Given the description of an element on the screen output the (x, y) to click on. 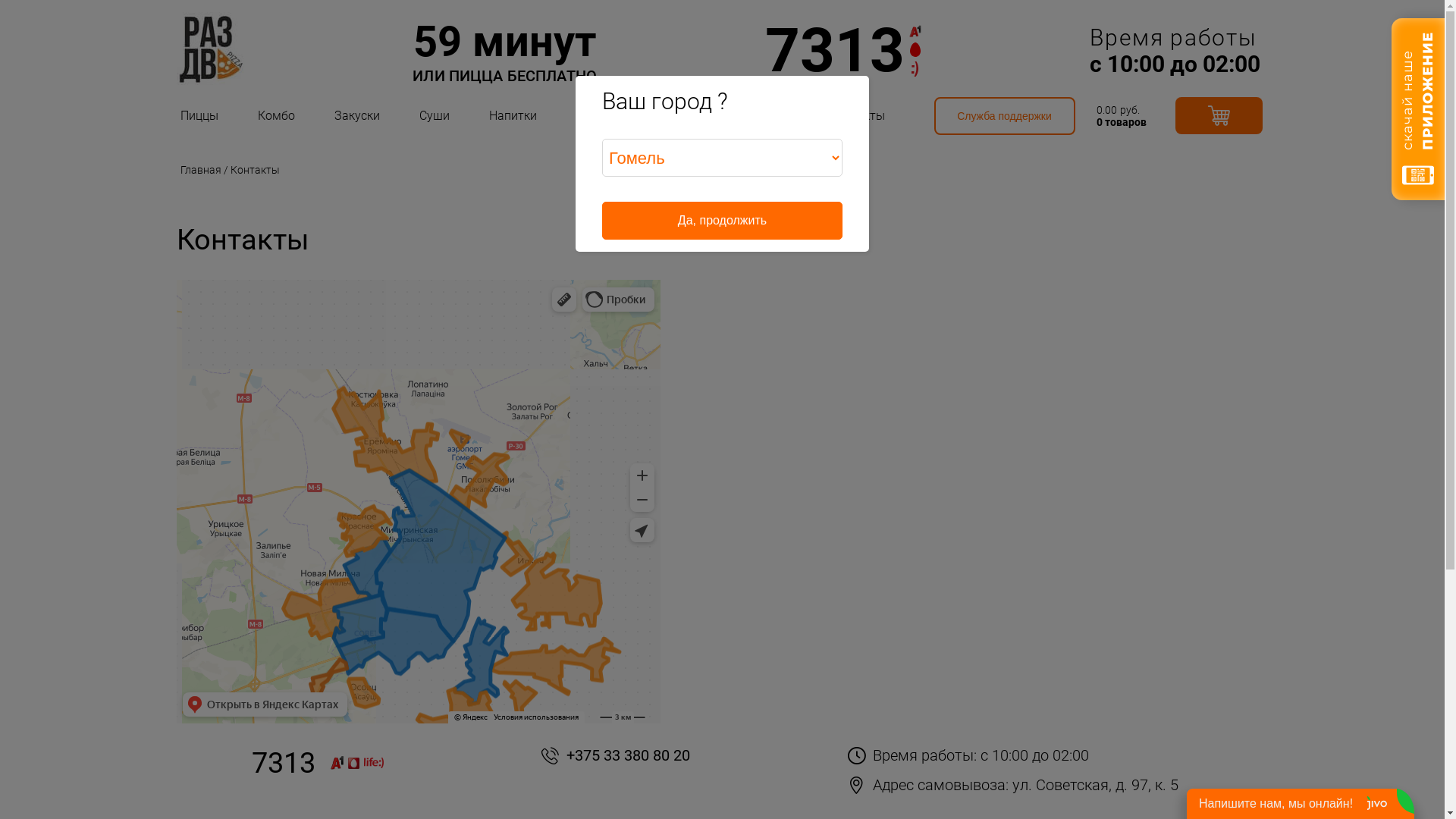
MTS Element type: hover (915, 49)
MTS Element type: hover (352, 762)
Life Element type: hover (914, 68)
7313 Element type: text (317, 762)
+375 33 380 80 20 Element type: text (615, 755)
Life Element type: hover (373, 762)
7313 Element type: text (843, 49)
